Given the description of an element on the screen output the (x, y) to click on. 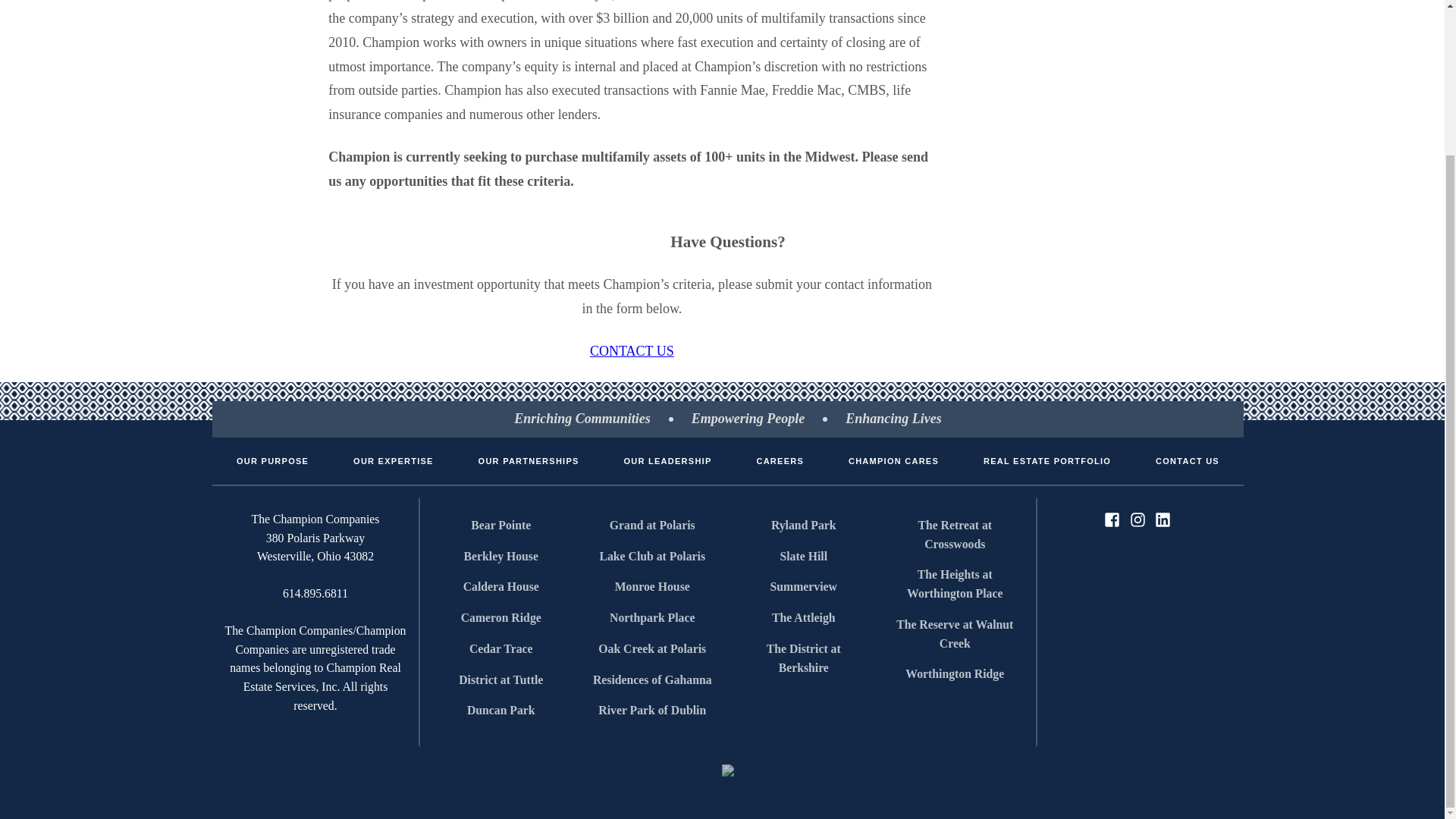
Slate Hill (803, 556)
Bear Pointe (501, 525)
CONTACT US (631, 350)
Northpark Place (652, 617)
Caldera House (501, 586)
OUR LEADERSHIP (667, 460)
CONTACT US (1186, 460)
OUR EXPERTISE (392, 460)
Cedar Trace (501, 649)
Lake Club at Polaris (652, 556)
